Given the description of an element on the screen output the (x, y) to click on. 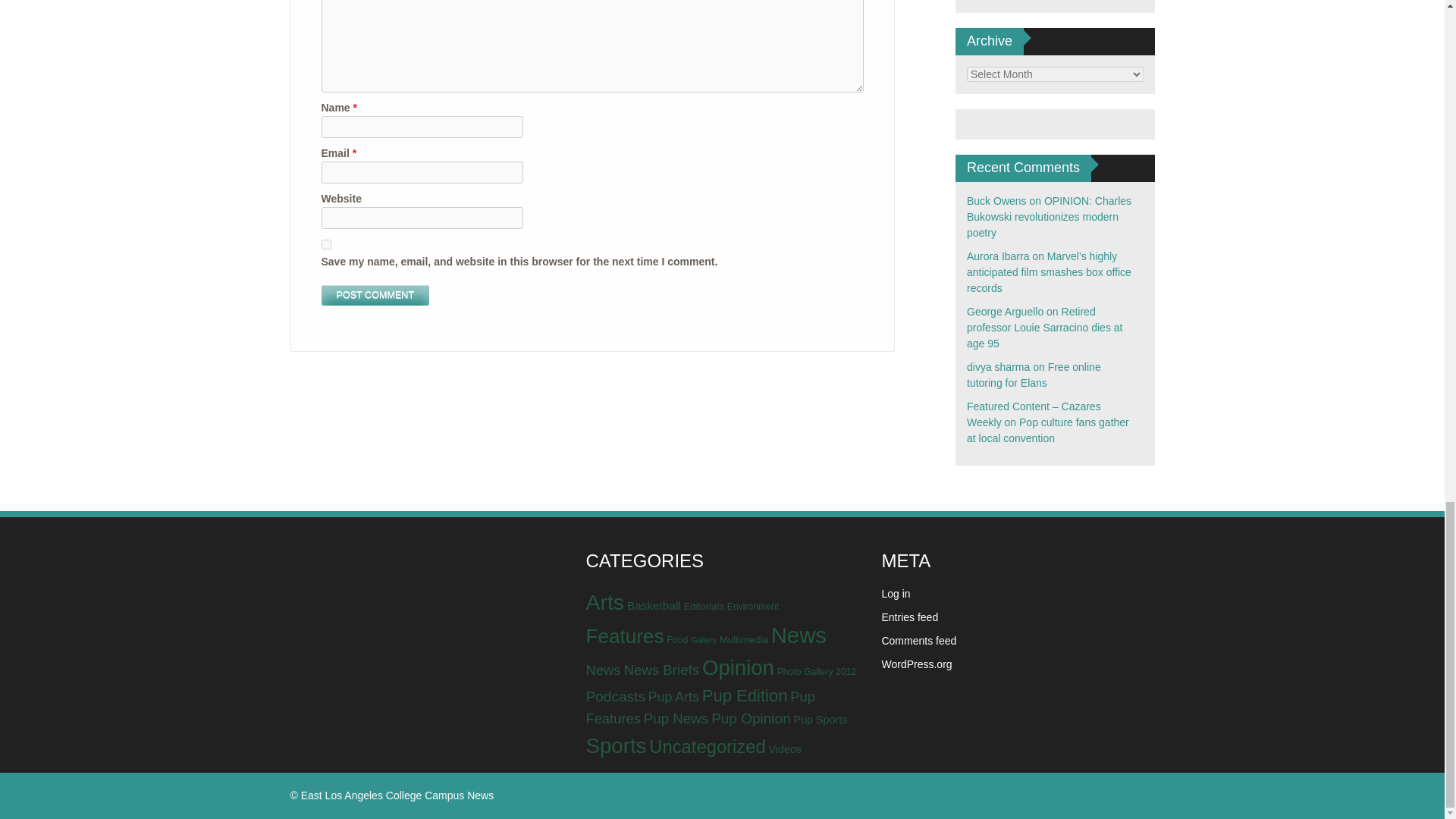
Post Comment (375, 295)
yes (326, 244)
